Given the description of an element on the screen output the (x, y) to click on. 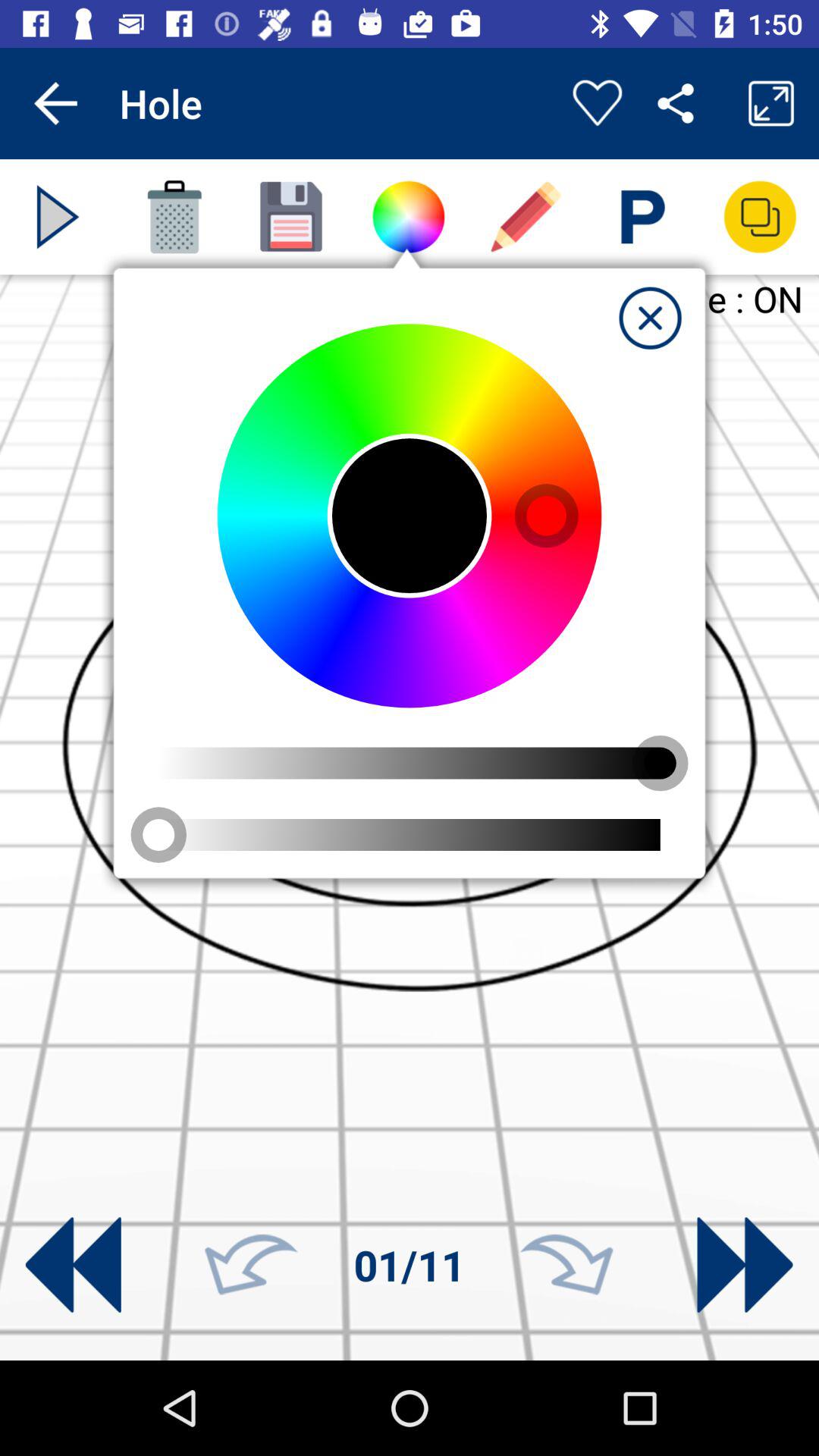
turn on the item at the top right corner (650, 318)
